Given the description of an element on the screen output the (x, y) to click on. 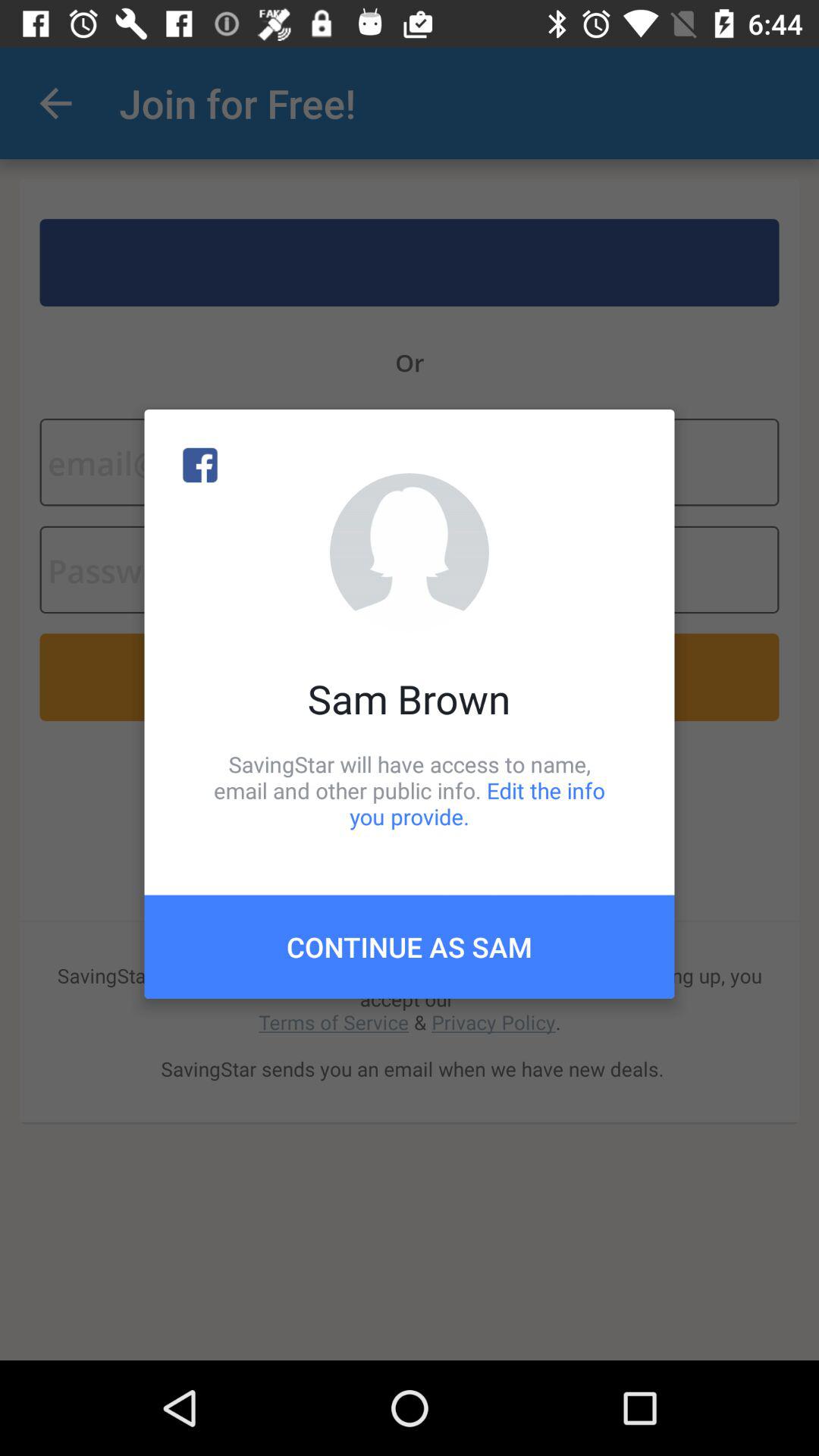
click icon above the continue as sam icon (409, 790)
